Given the description of an element on the screen output the (x, y) to click on. 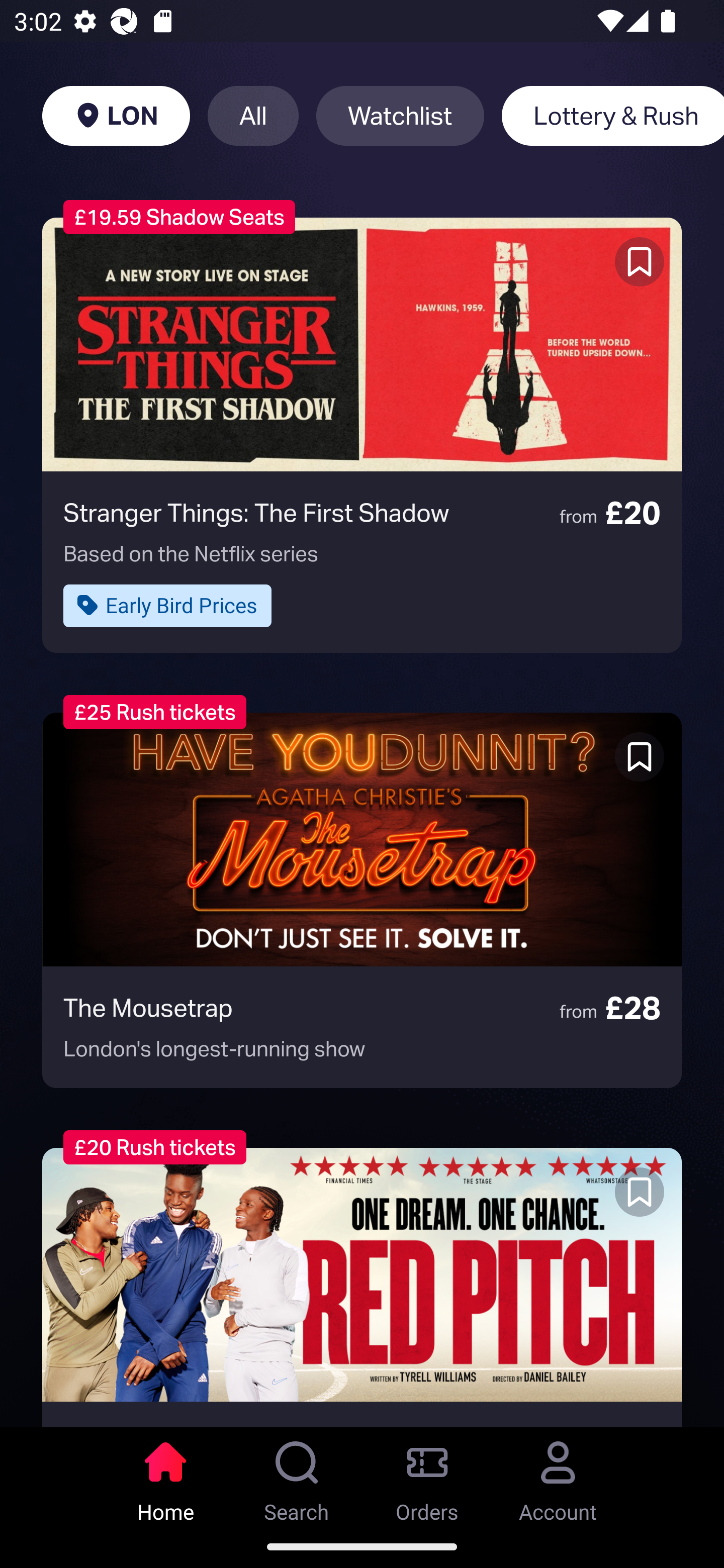
LON (115, 115)
All (252, 115)
Watchlist (400, 115)
Lottery & Rush (612, 115)
£28 (361, 1286)
Search (296, 1475)
Orders (427, 1475)
Account (558, 1475)
